Given the description of an element on the screen output the (x, y) to click on. 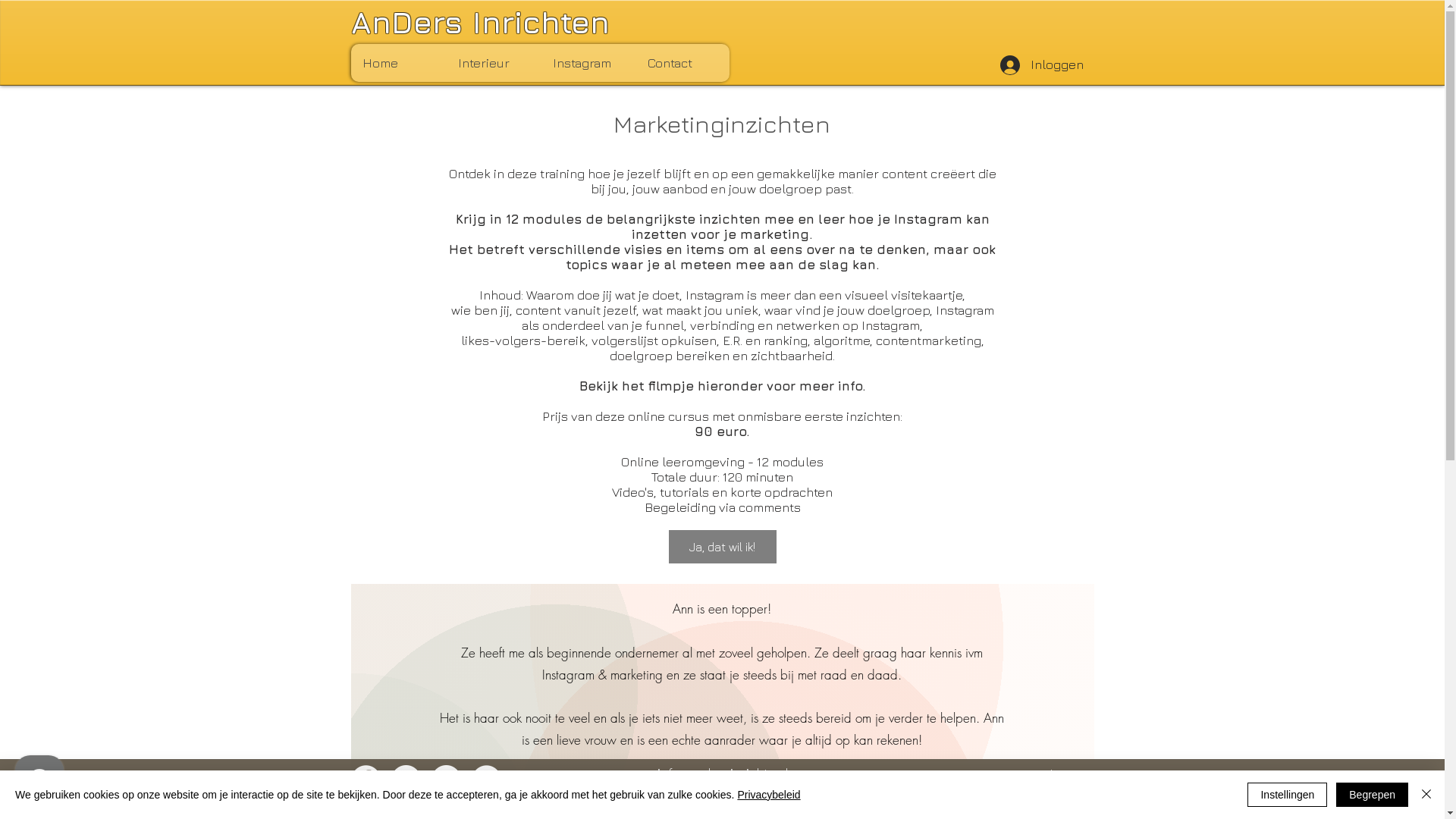
Begrepen Element type: text (1372, 794)
info@andersinrichten.be Element type: text (728, 772)
www.zigzagfun.com Element type: text (721, 805)
Contact Element type: text (682, 62)
Instellingen Element type: text (1287, 794)
Interieur Element type: text (492, 62)
Home Element type: text (397, 62)
Ja, dat wil ik! Element type: text (722, 546)
Privacybeleid Element type: text (768, 794)
Instagram Element type: text (586, 62)
Inloggen Element type: text (1040, 64)
